Given the description of an element on the screen output the (x, y) to click on. 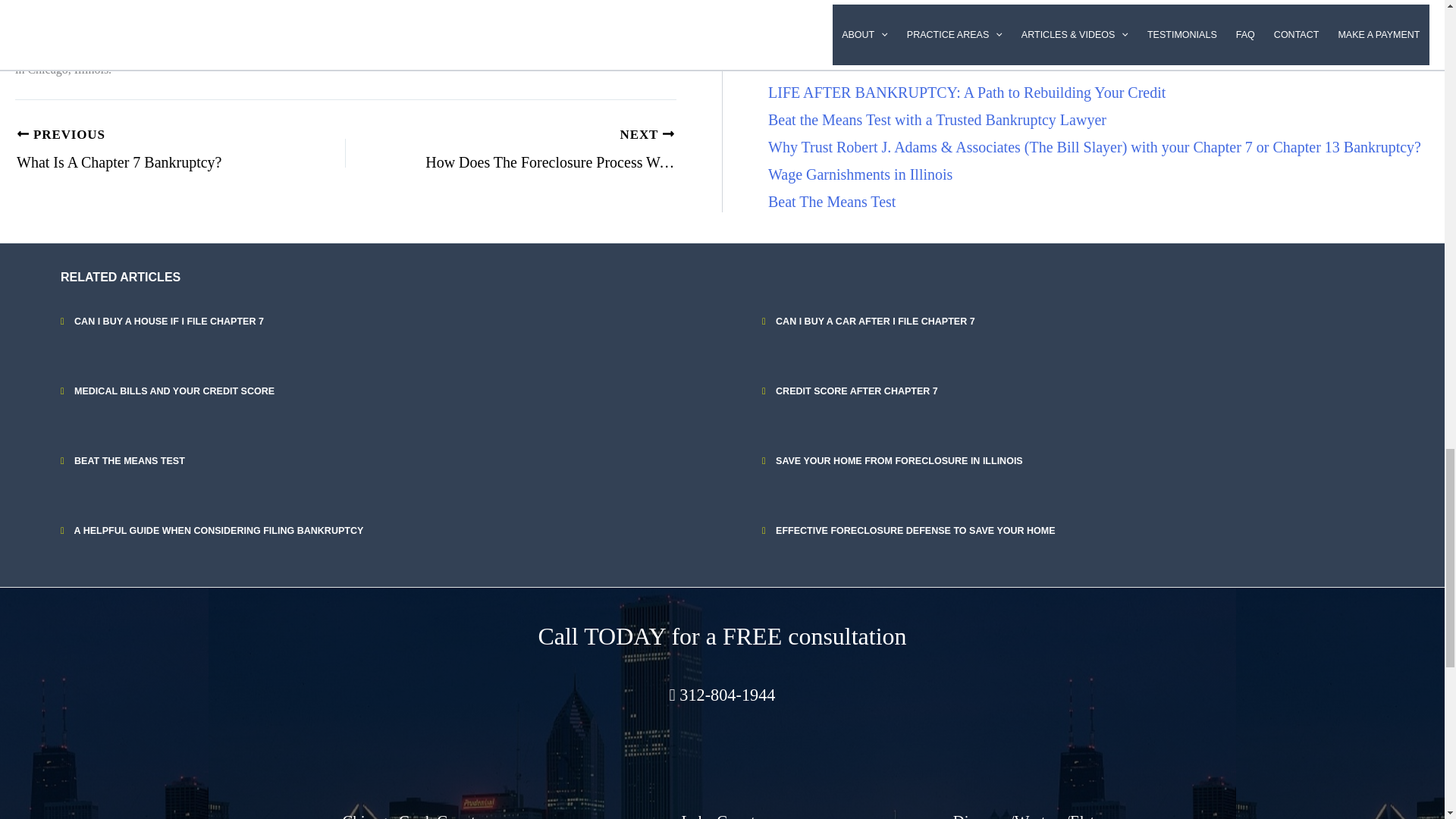
What Is A Chapter 7 Bankruptcy? (148, 150)
How Does The Foreclosure Process Work In Illinois? (542, 150)
